Given the description of an element on the screen output the (x, y) to click on. 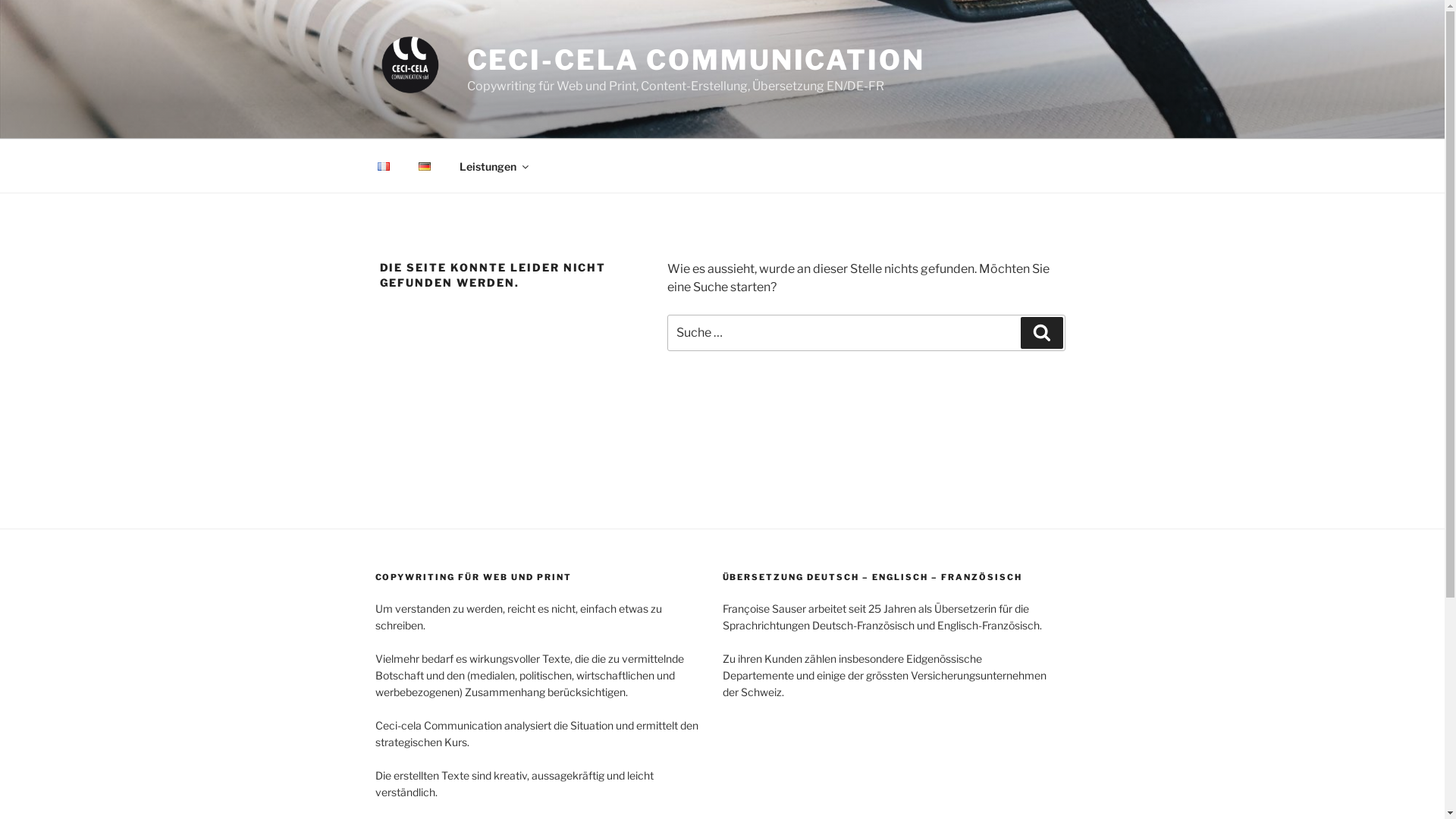
Suche Element type: text (1041, 332)
CECI-CELA COMMUNICATION Element type: text (696, 59)
Leistungen Element type: text (492, 165)
